Given the description of an element on the screen output the (x, y) to click on. 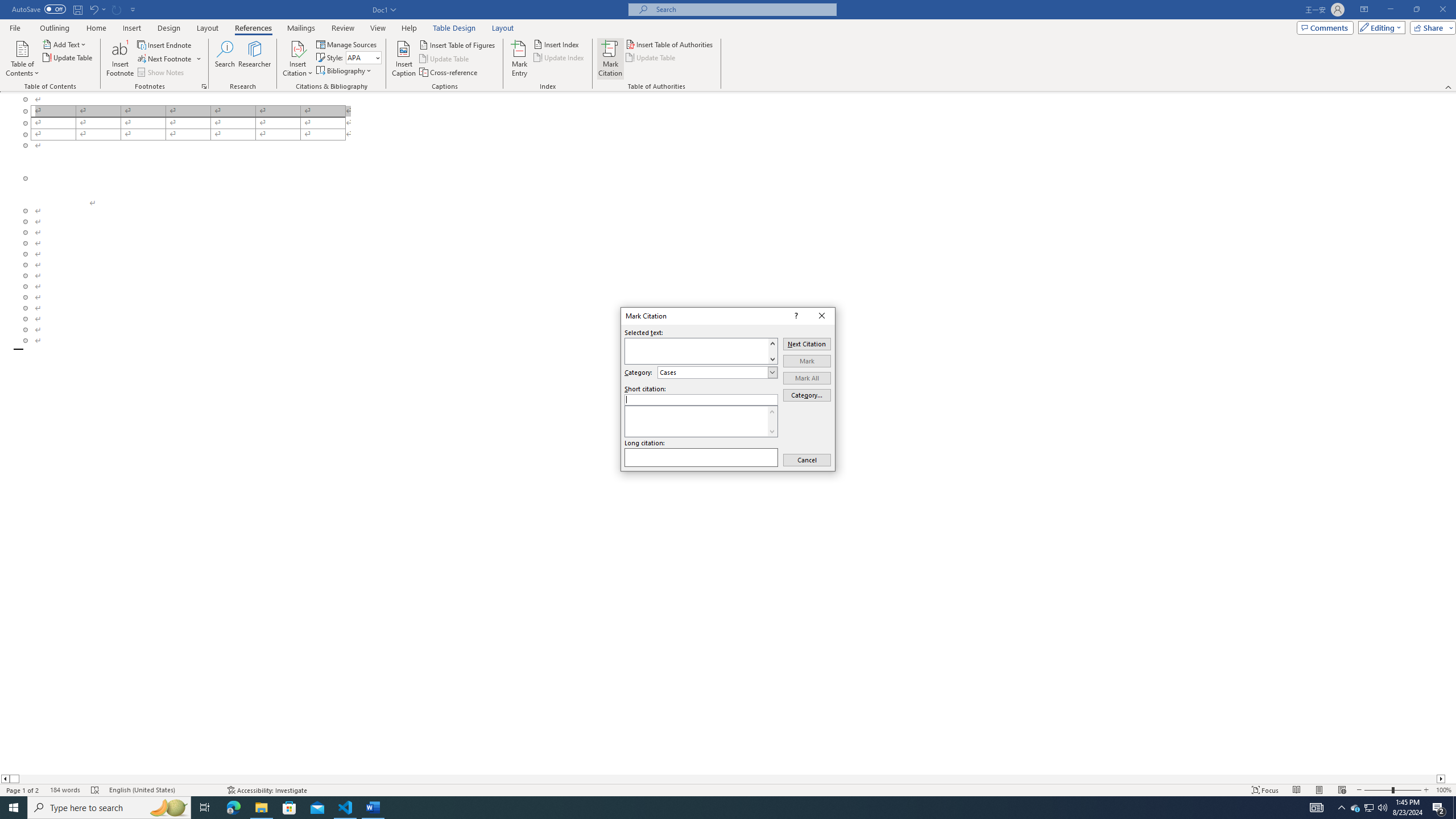
Style (360, 57)
Insert Citation (297, 58)
Next Footnote (165, 58)
Insert Caption... (403, 58)
Category... (807, 395)
